Given the description of an element on the screen output the (x, y) to click on. 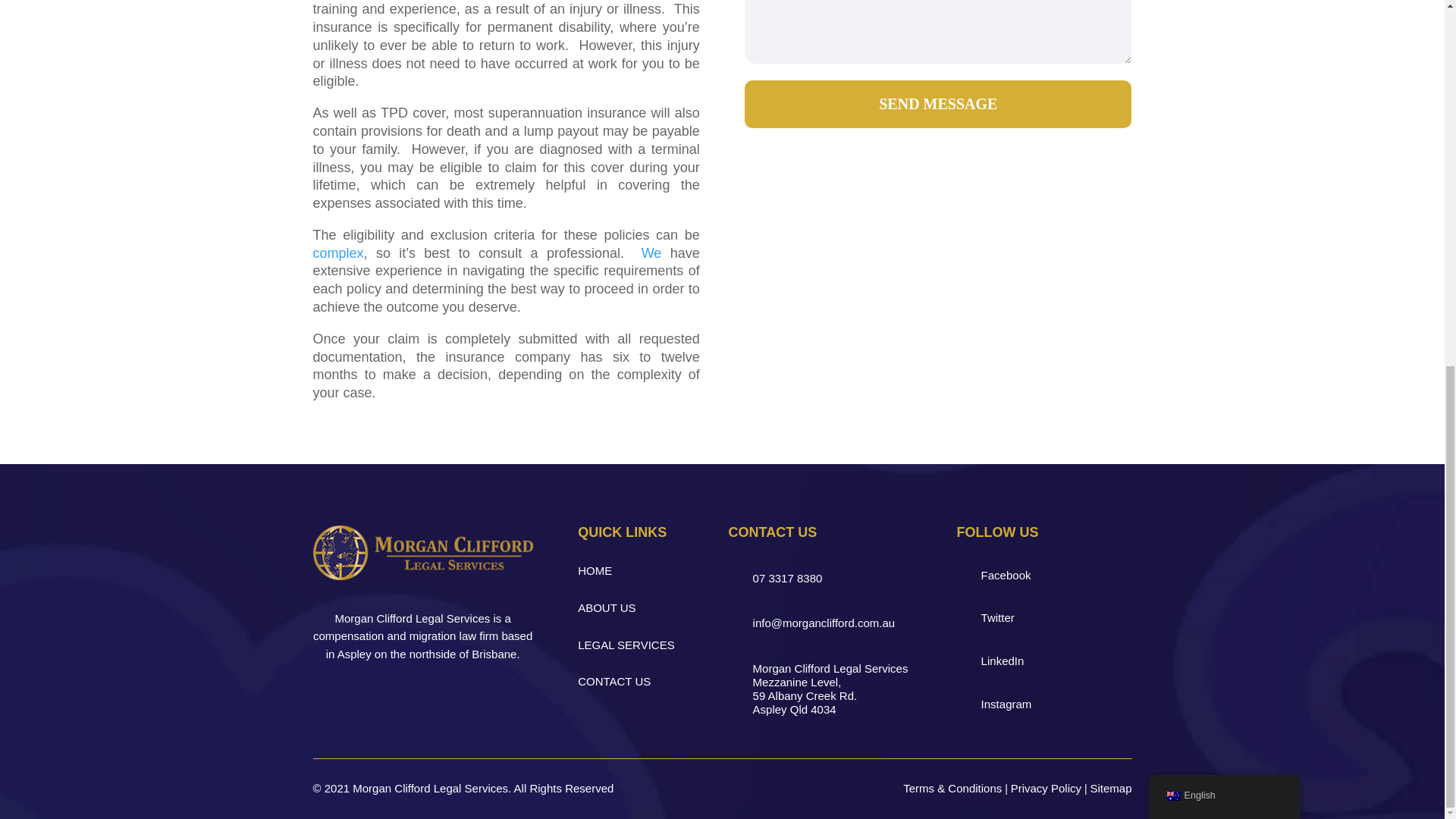
Send Message (937, 103)
English (1172, 136)
